Given the description of an element on the screen output the (x, y) to click on. 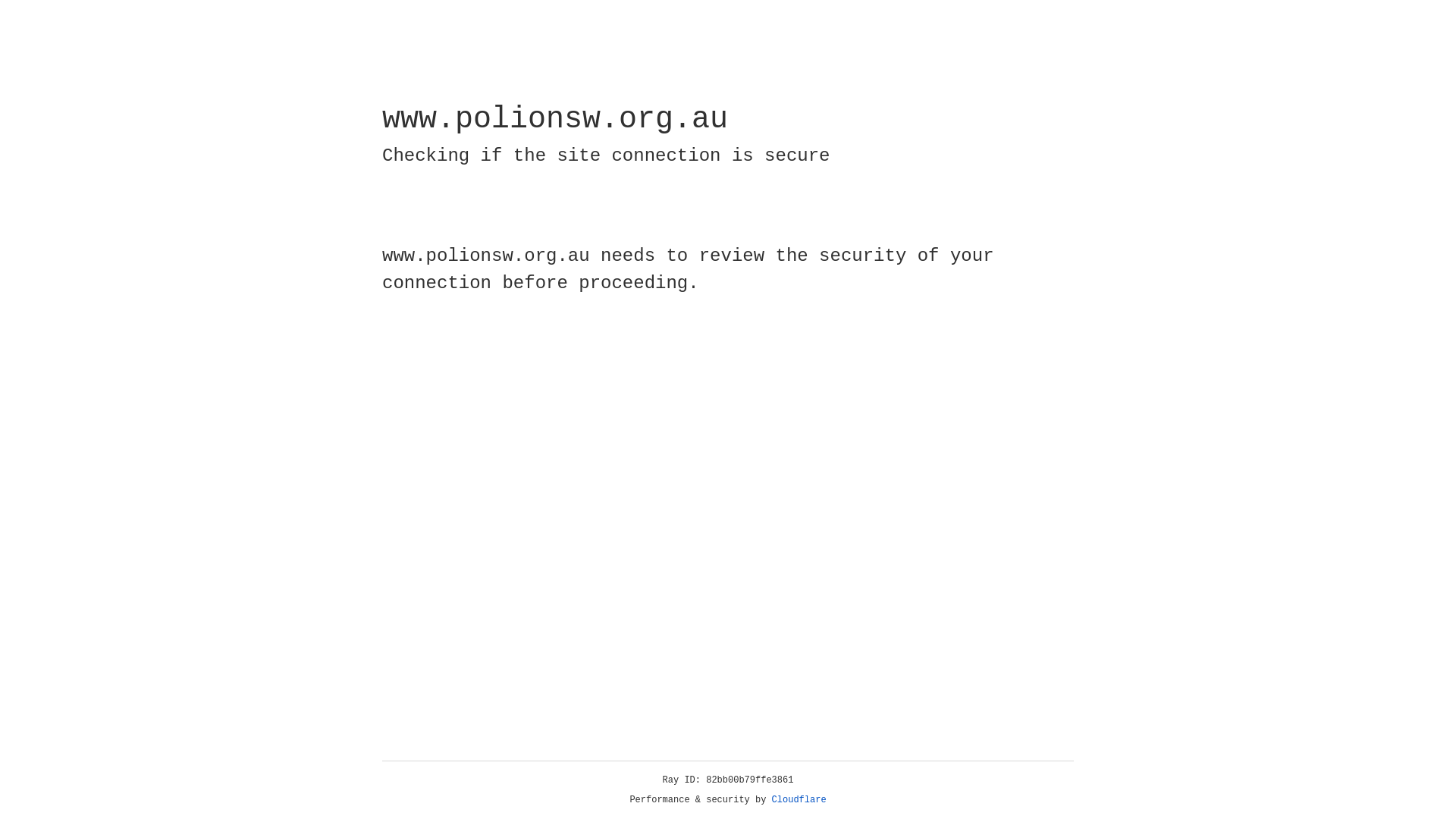
Cloudflare Element type: text (798, 799)
